Given the description of an element on the screen output the (x, y) to click on. 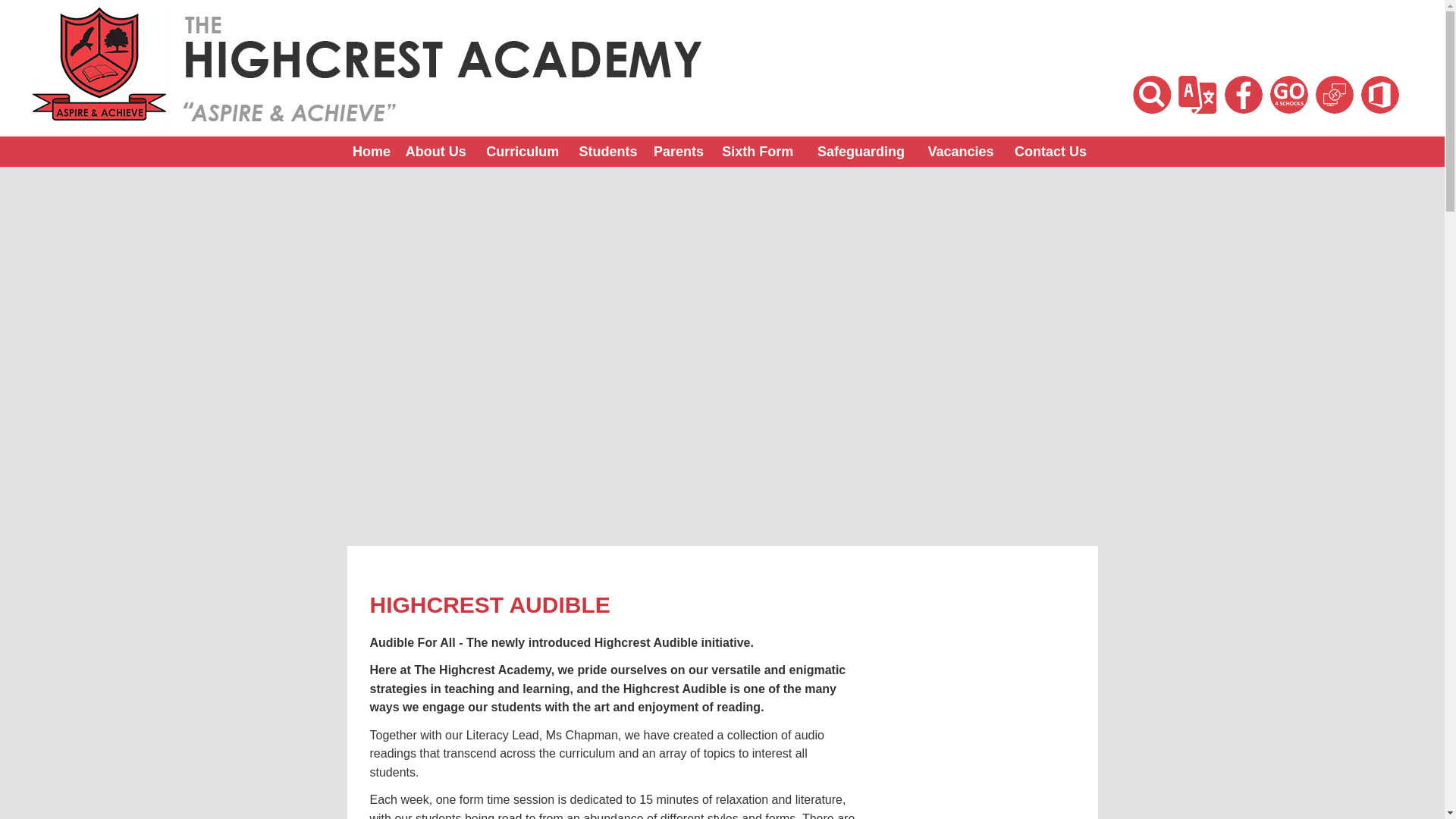
Home (371, 151)
Search site (1152, 94)
Search site (1152, 94)
About Us (436, 151)
Curriculum (523, 151)
